Given the description of an element on the screen output the (x, y) to click on. 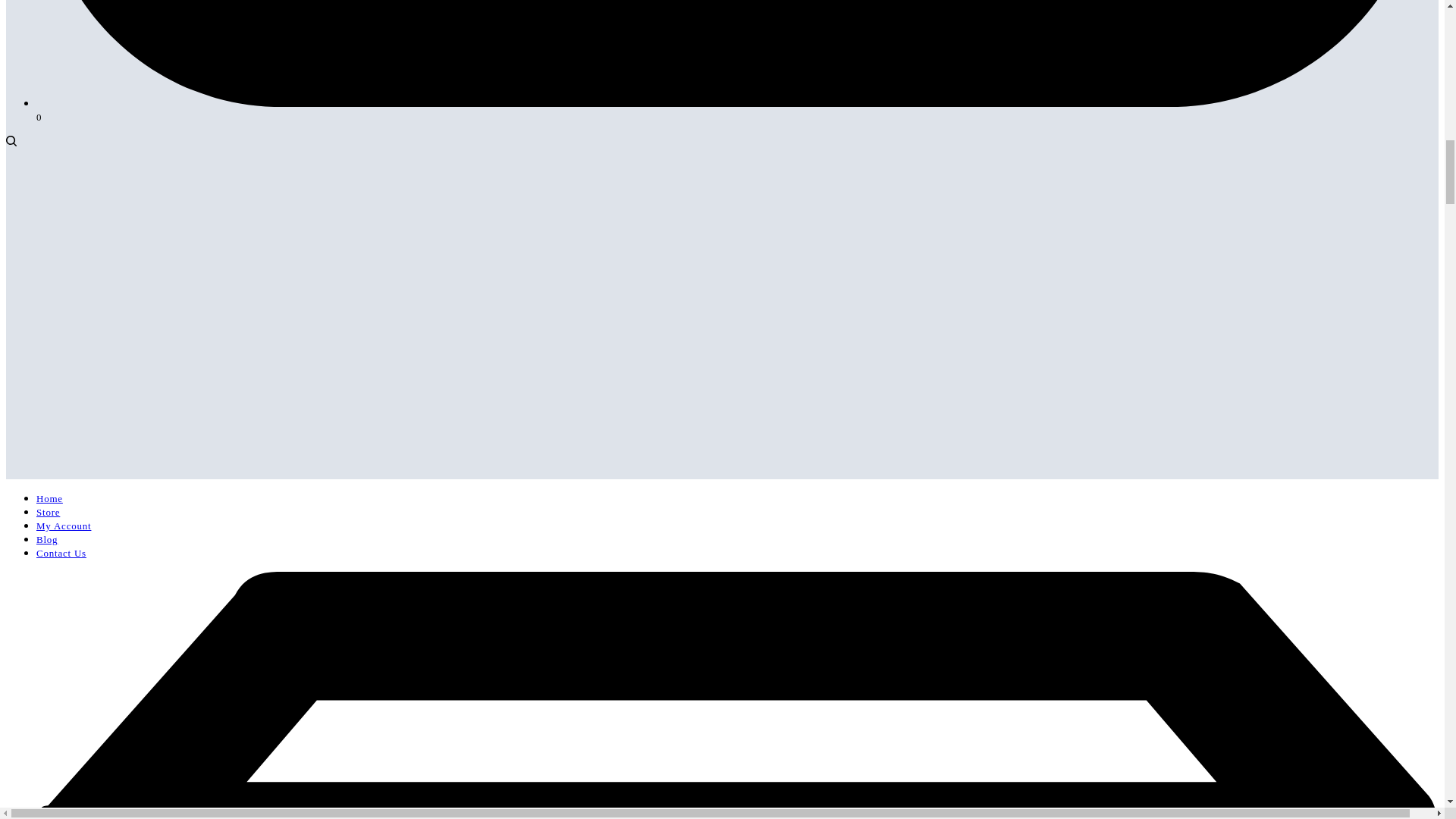
Contact Us (60, 552)
Store (47, 511)
Home (49, 498)
Blog (47, 539)
0 (737, 109)
My Account (63, 525)
